Given the description of an element on the screen output the (x, y) to click on. 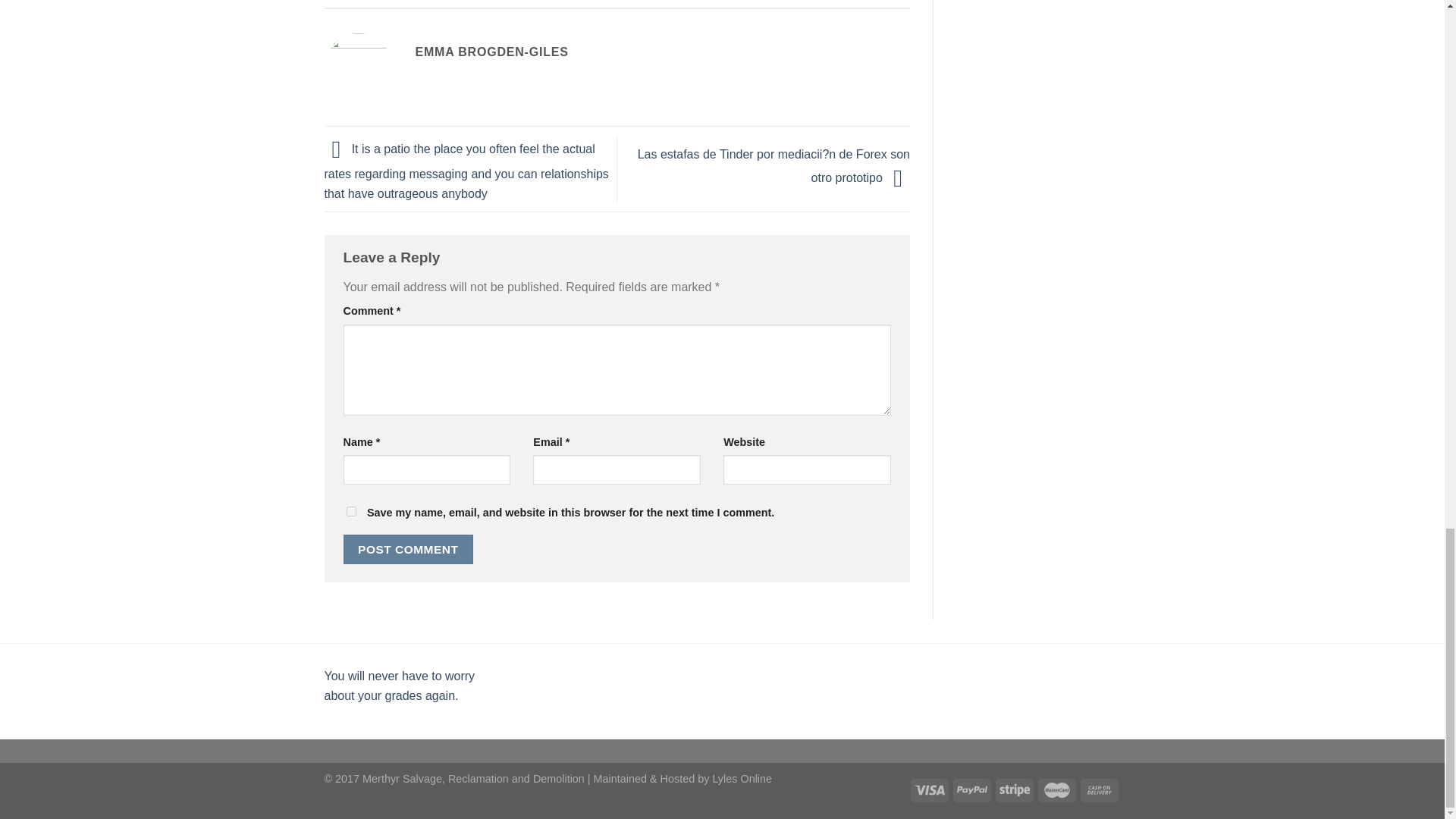
Post Comment (407, 549)
Post Comment (407, 549)
yes (350, 511)
